Given the description of an element on the screen output the (x, y) to click on. 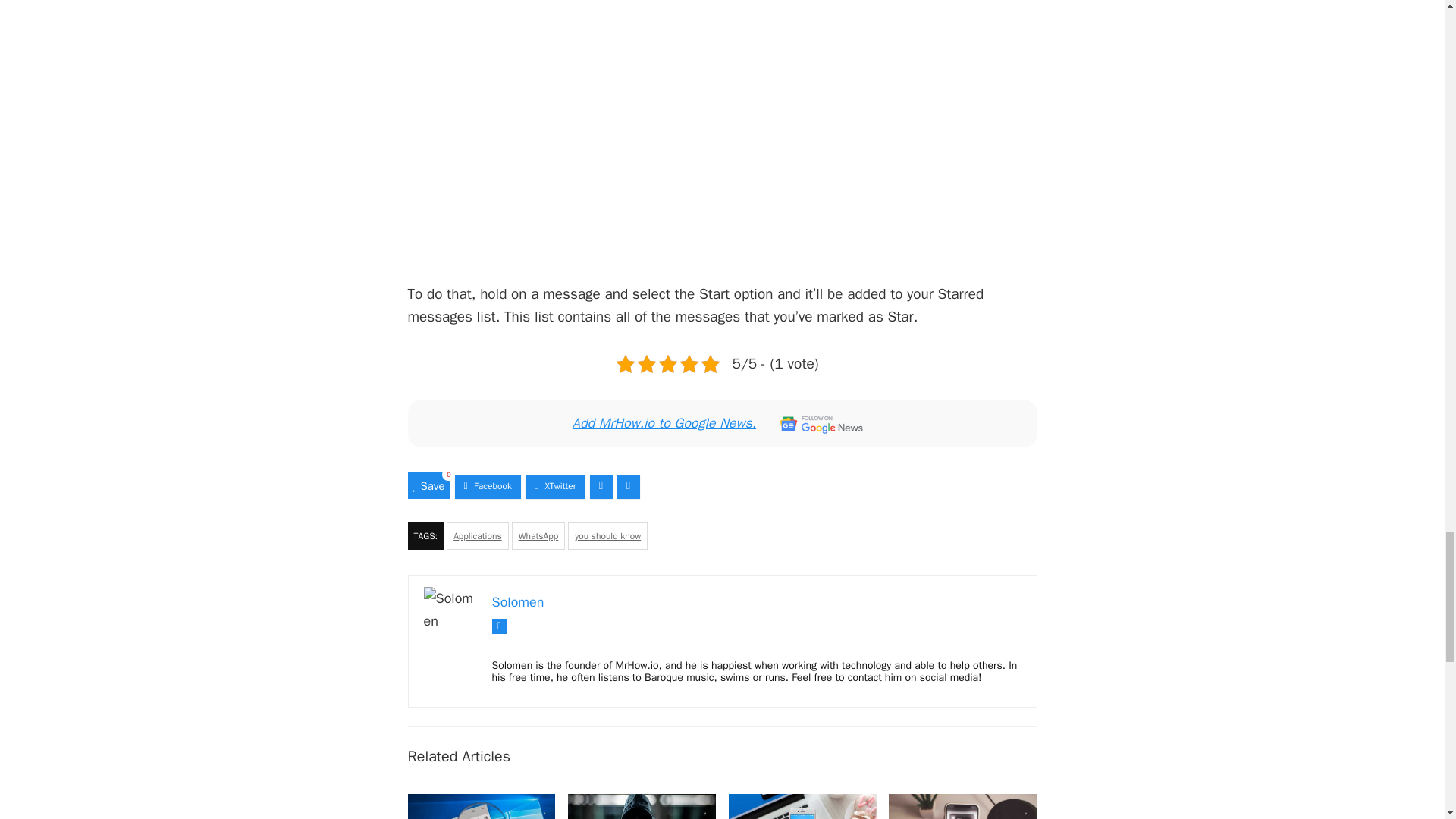
WhatsApp (539, 535)
Applications (477, 535)
Add MrHow.io to Google News. (721, 422)
you should know (607, 535)
Solomen (517, 601)
